Given the description of an element on the screen output the (x, y) to click on. 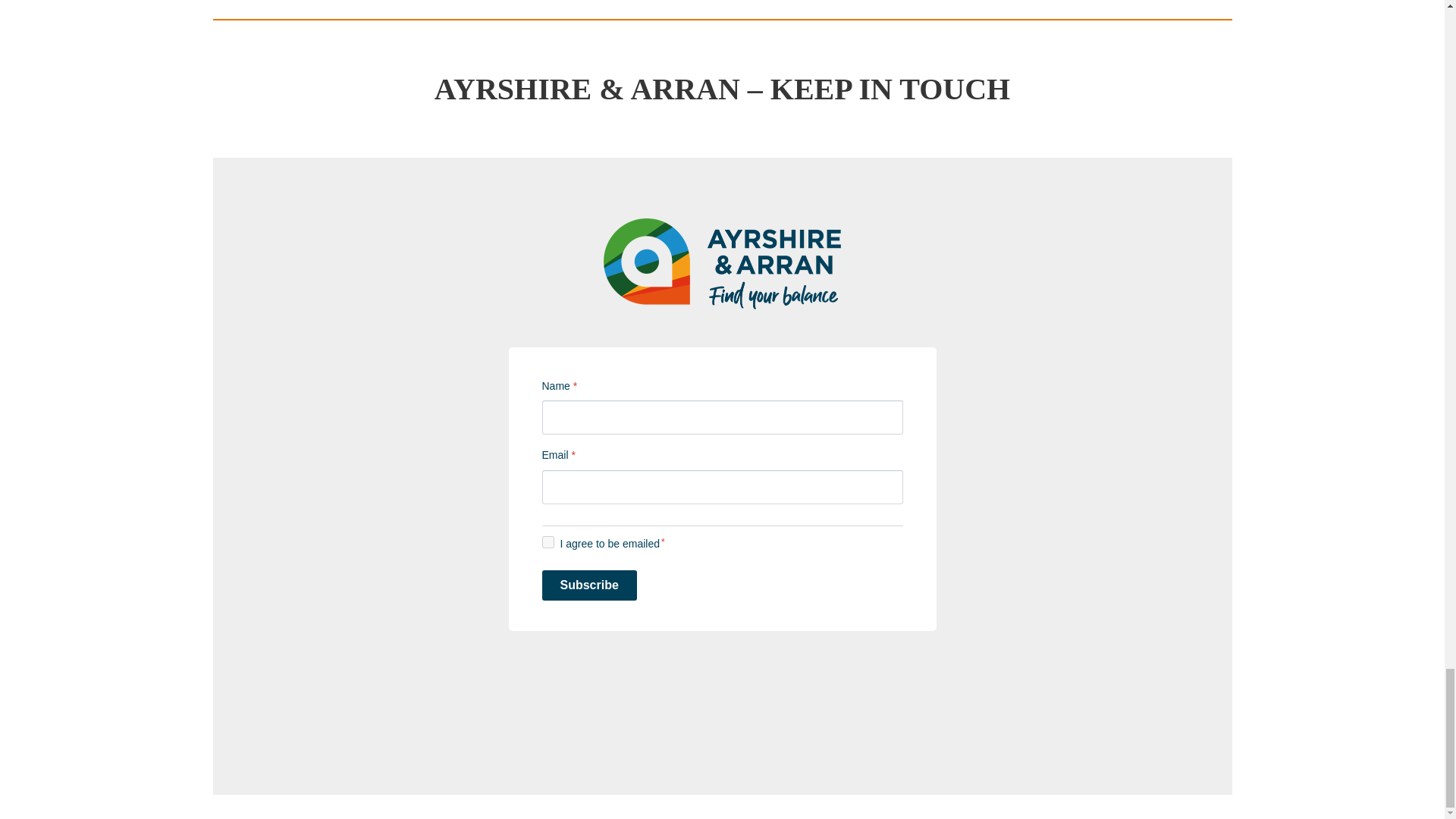
on (547, 541)
